Given the description of an element on the screen output the (x, y) to click on. 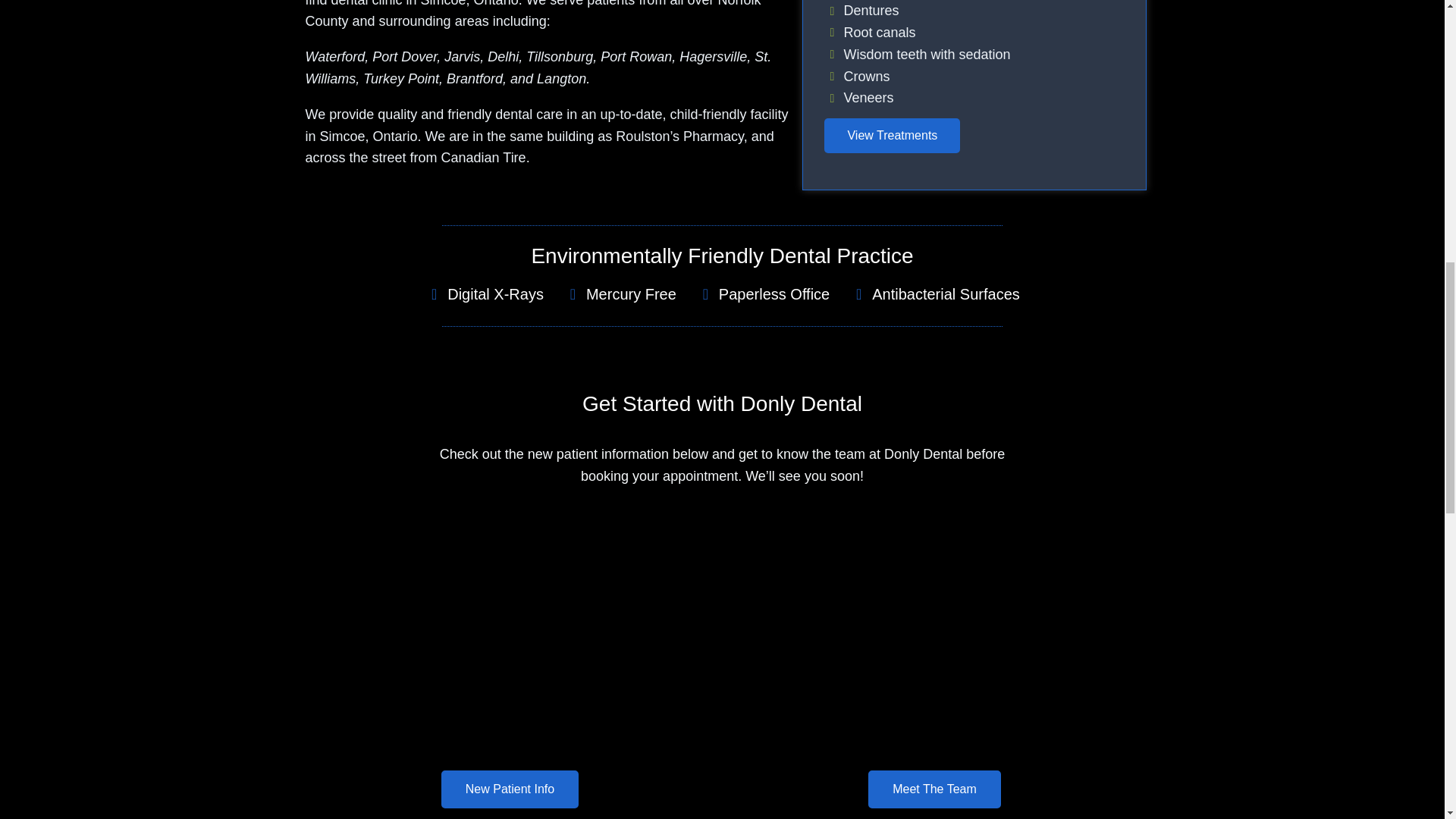
Crowns (974, 76)
New Patient Info (509, 675)
Wisdom teeth with sedation (974, 55)
View Treatments (891, 135)
Root canals (974, 33)
Dentures (974, 11)
Meet The Team (934, 675)
Veneers (974, 97)
